Given the description of an element on the screen output the (x, y) to click on. 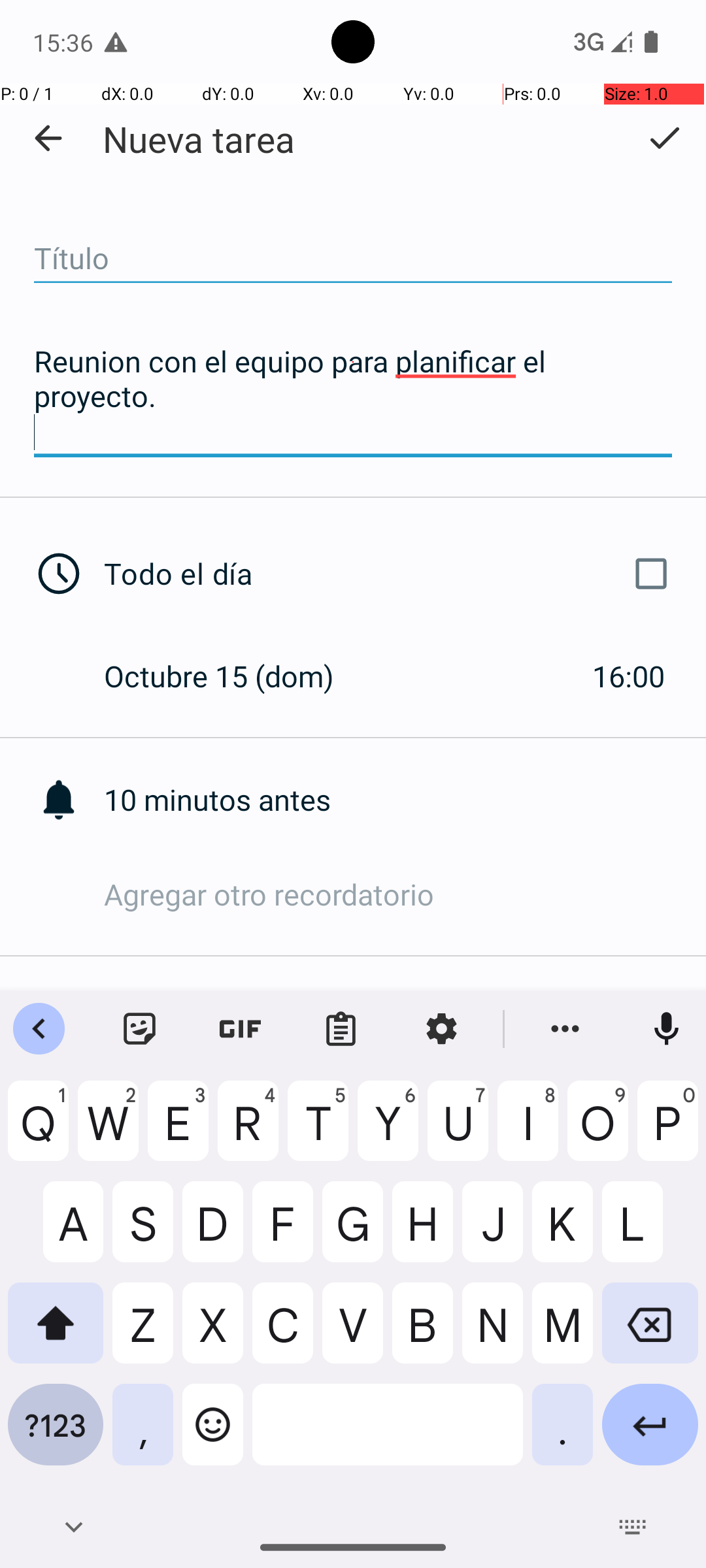
Nueva tarea Element type: android.widget.TextView (198, 138)
Guardar Element type: android.widget.Button (664, 137)
Título Element type: android.widget.EditText (352, 258)
Reunion con el equipo para planificar el proyecto.
 Element type: android.widget.EditText (352, 396)
Octubre 15 (dom) Element type: android.widget.TextView (232, 675)
10 minutos antes Element type: android.widget.TextView (404, 798)
Agregar otro recordatorio Element type: android.widget.TextView (404, 893)
No repetir Element type: android.widget.TextView (404, 1010)
Todo el día Element type: android.widget.CheckBox (390, 573)
15:36 Element type: android.widget.TextView (64, 41)
